Given the description of an element on the screen output the (x, y) to click on. 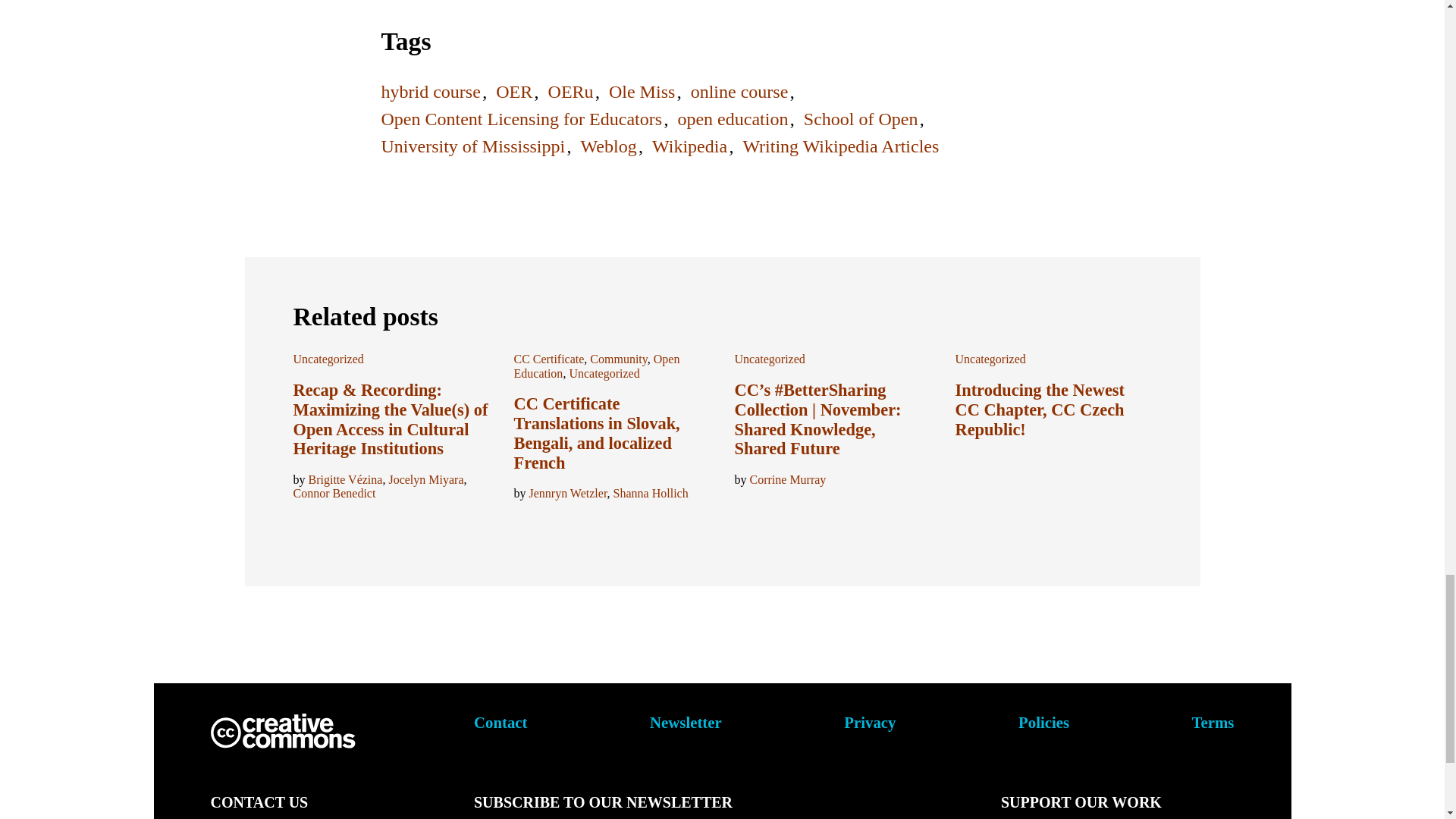
OER (514, 91)
online course (739, 91)
Open Content Licensing for Educators (521, 118)
open education (732, 118)
hybrid course (430, 91)
OERu (571, 91)
Ole Miss (641, 91)
